Given the description of an element on the screen output the (x, y) to click on. 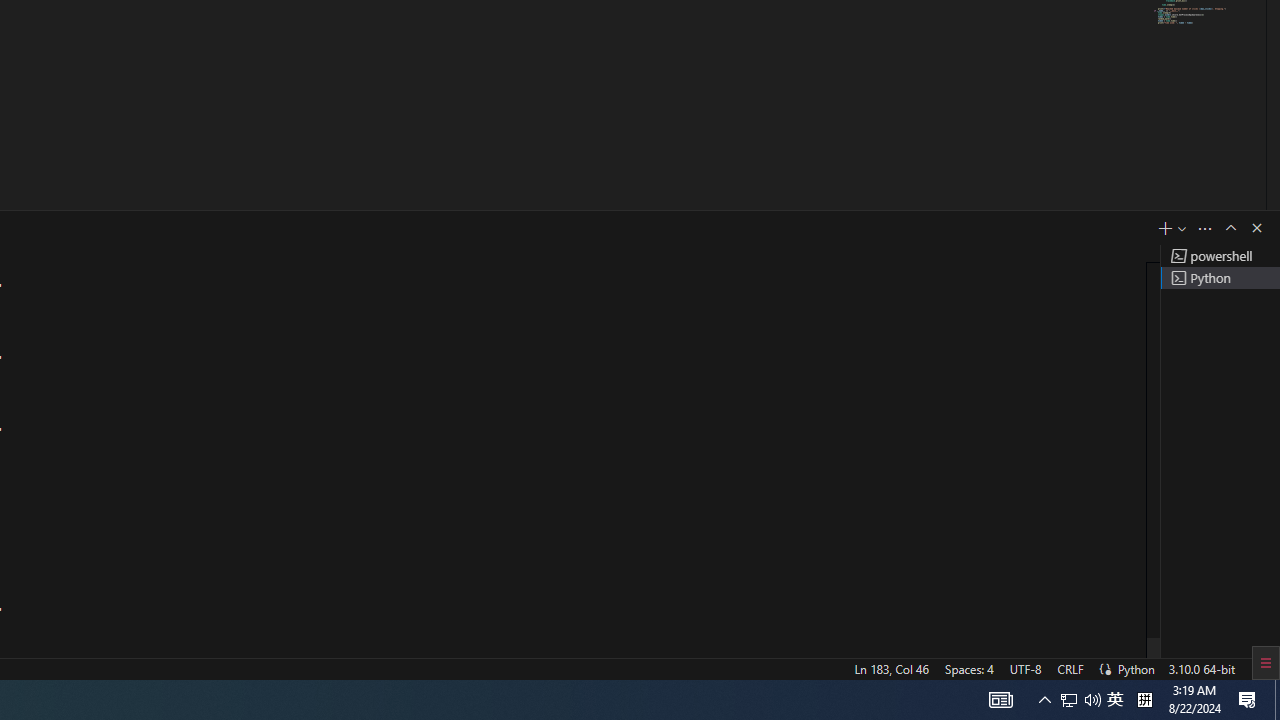
Ln 183, Col 46 (891, 668)
Terminal 5 Python (1220, 277)
